Given the description of an element on the screen output the (x, y) to click on. 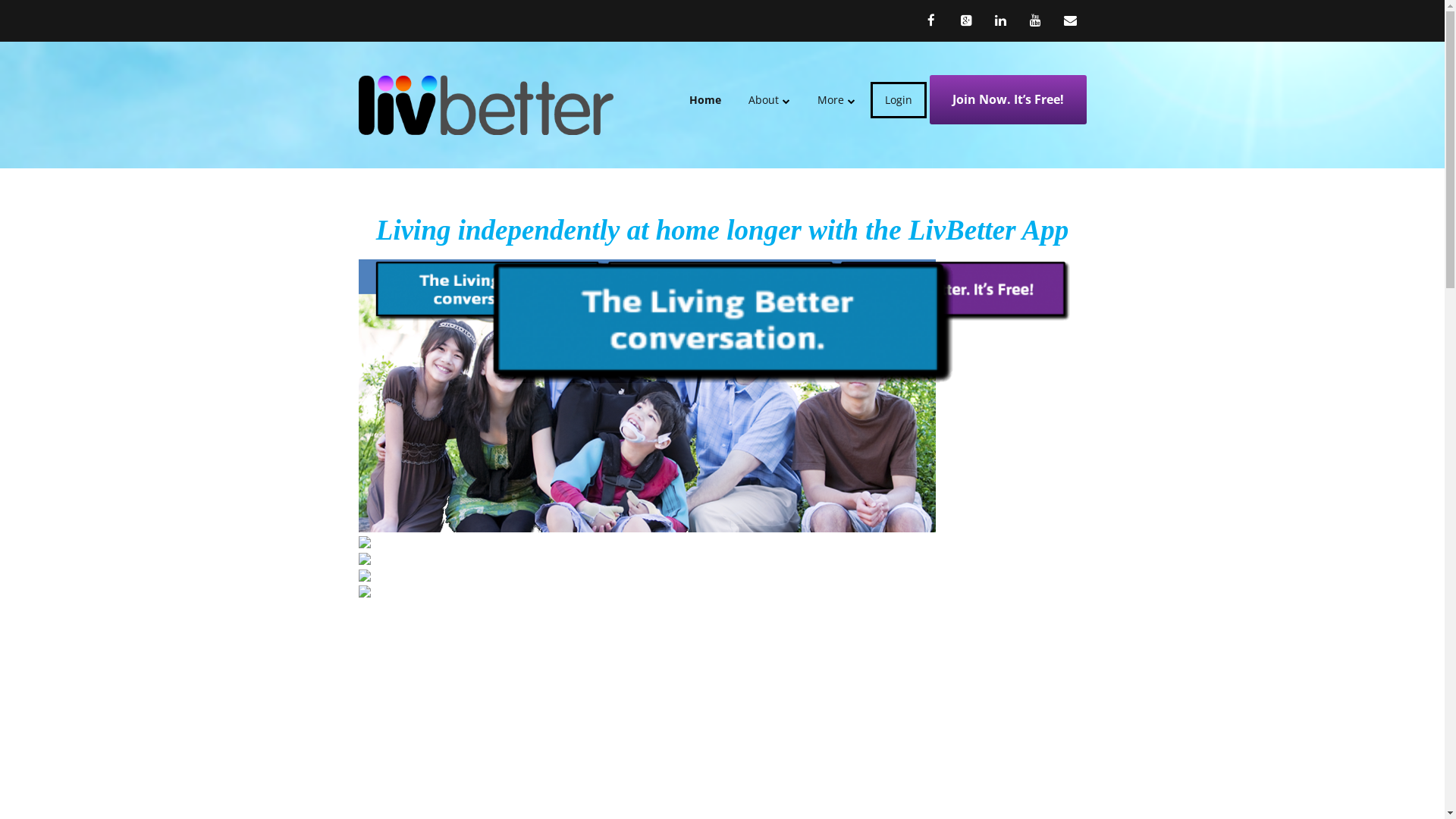
Home Element type: text (710, 100)
YouTube Element type: text (1035, 20)
Login Element type: text (898, 99)
Facebook Element type: text (934, 20)
Google+ Element type: text (966, 20)
Email Element type: text (1070, 20)
More Element type: text (836, 100)
Skip to content Element type: text (406, 9)
LinkedIn Element type: text (1000, 20)
About Element type: text (768, 100)
Skip to content Element type: text (736, 84)
